Given the description of an element on the screen output the (x, y) to click on. 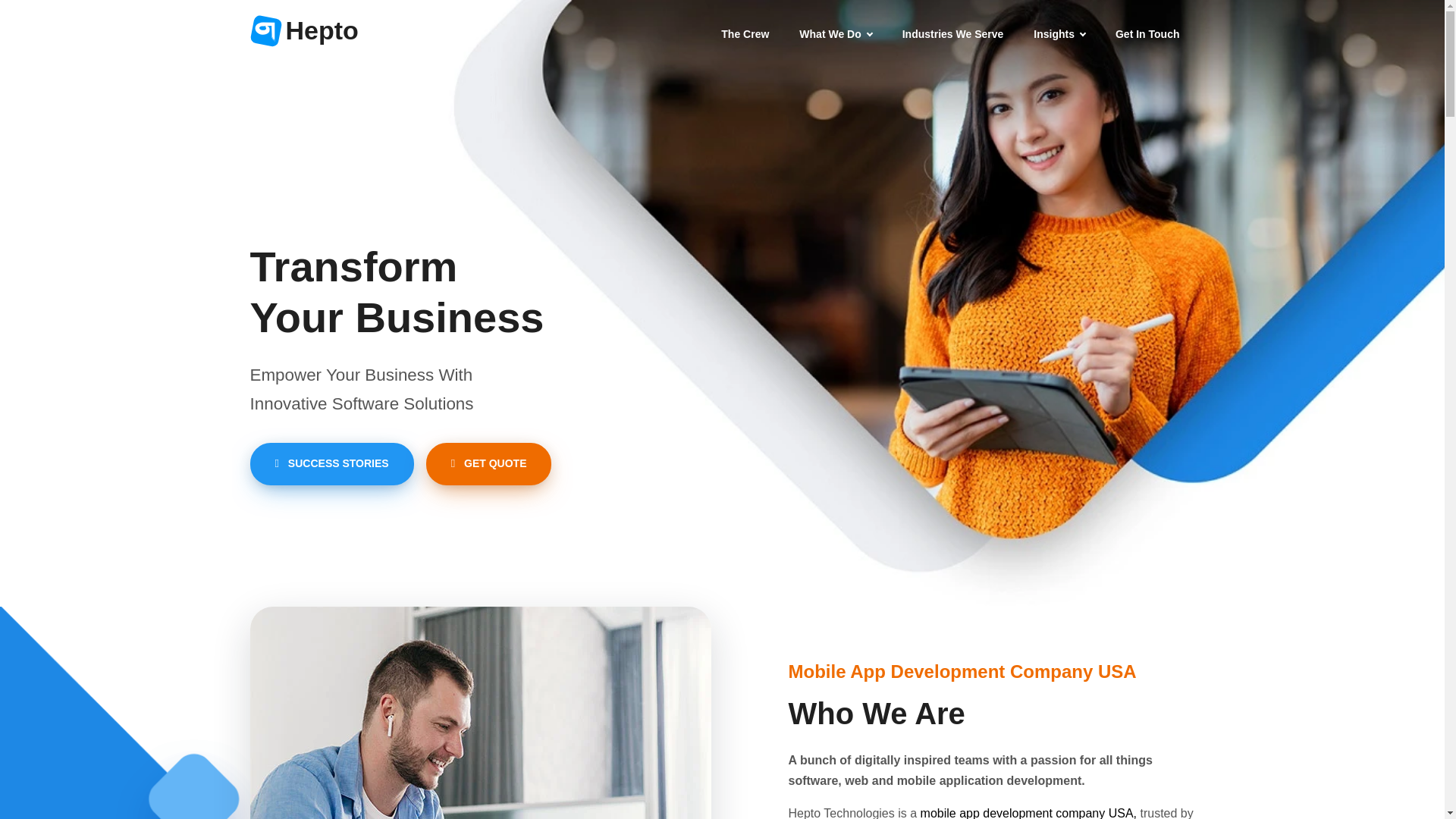
Hepto (304, 30)
The Crew (745, 33)
What We Do (835, 33)
